Given the description of an element on the screen output the (x, y) to click on. 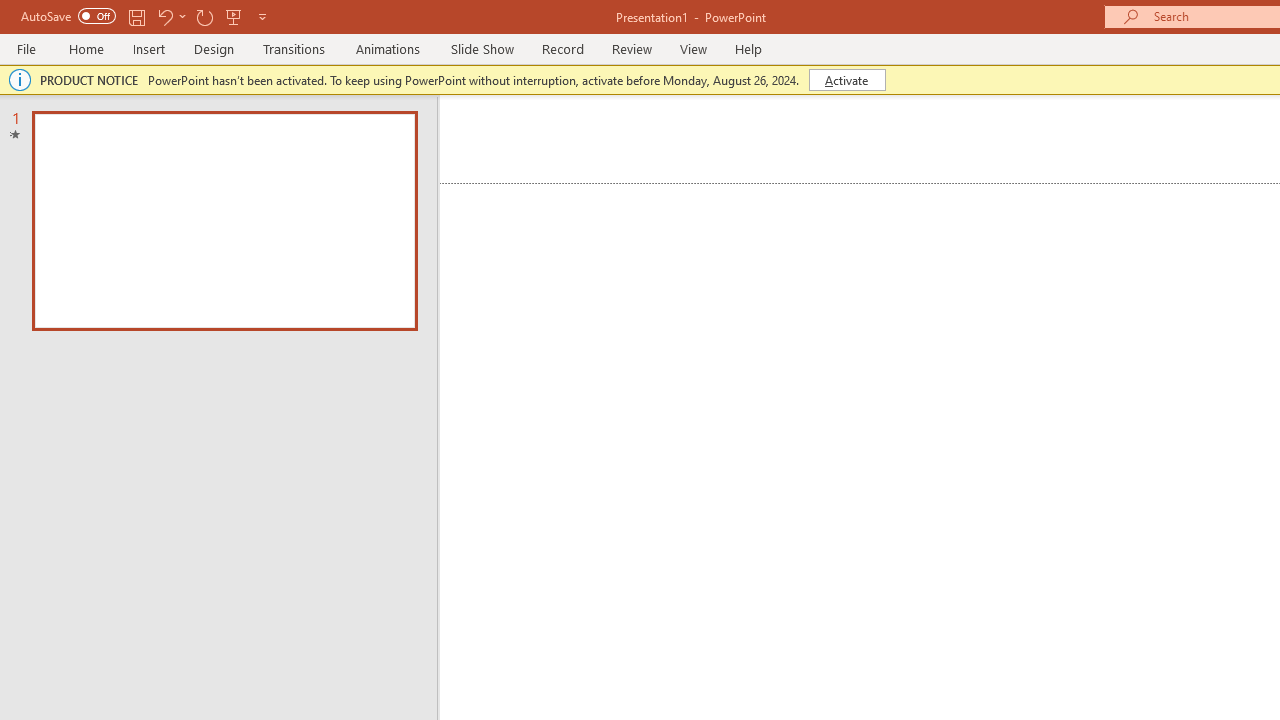
Clear Formatting (578, 137)
Bold (172, 180)
Line and Paragraph Spacing (927, 180)
Cut (112, 126)
Indents and Spacing (1051, 343)
Italic (212, 180)
Enclose Characters... (656, 180)
Decrease Indent (906, 137)
